Given the description of an element on the screen output the (x, y) to click on. 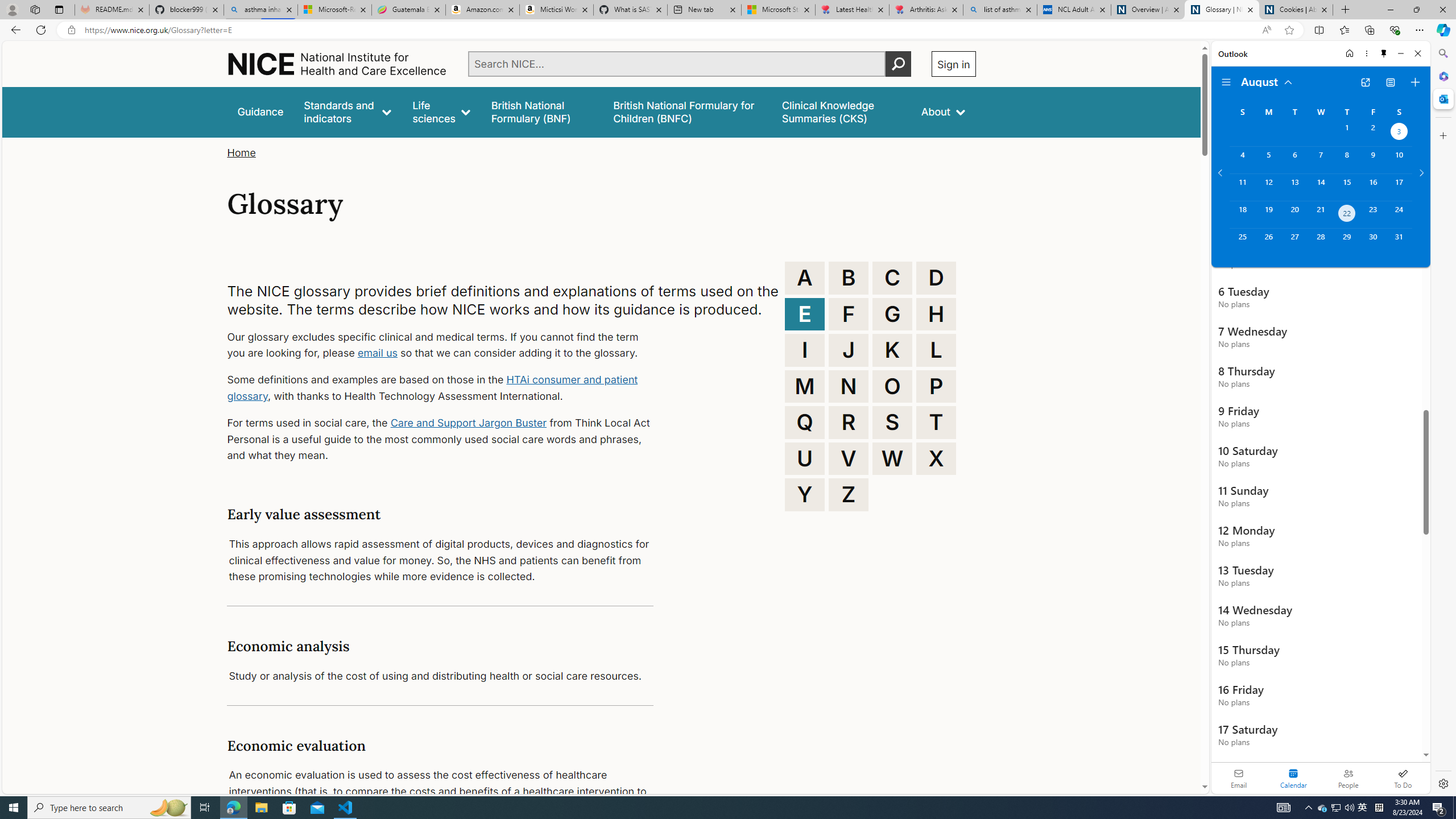
View site information (70, 29)
C (892, 277)
Monday, August 12, 2024.  (1268, 186)
View Switcher. Current view is Agenda view (1390, 82)
Read aloud this page (Ctrl+Shift+U) (1266, 29)
M (804, 385)
Monday, August 5, 2024.  (1268, 159)
U (804, 458)
Browser essentials (1394, 29)
Copilot (Ctrl+Shift+.) (1442, 29)
Y (804, 494)
Collections (1369, 29)
